Given the description of an element on the screen output the (x, y) to click on. 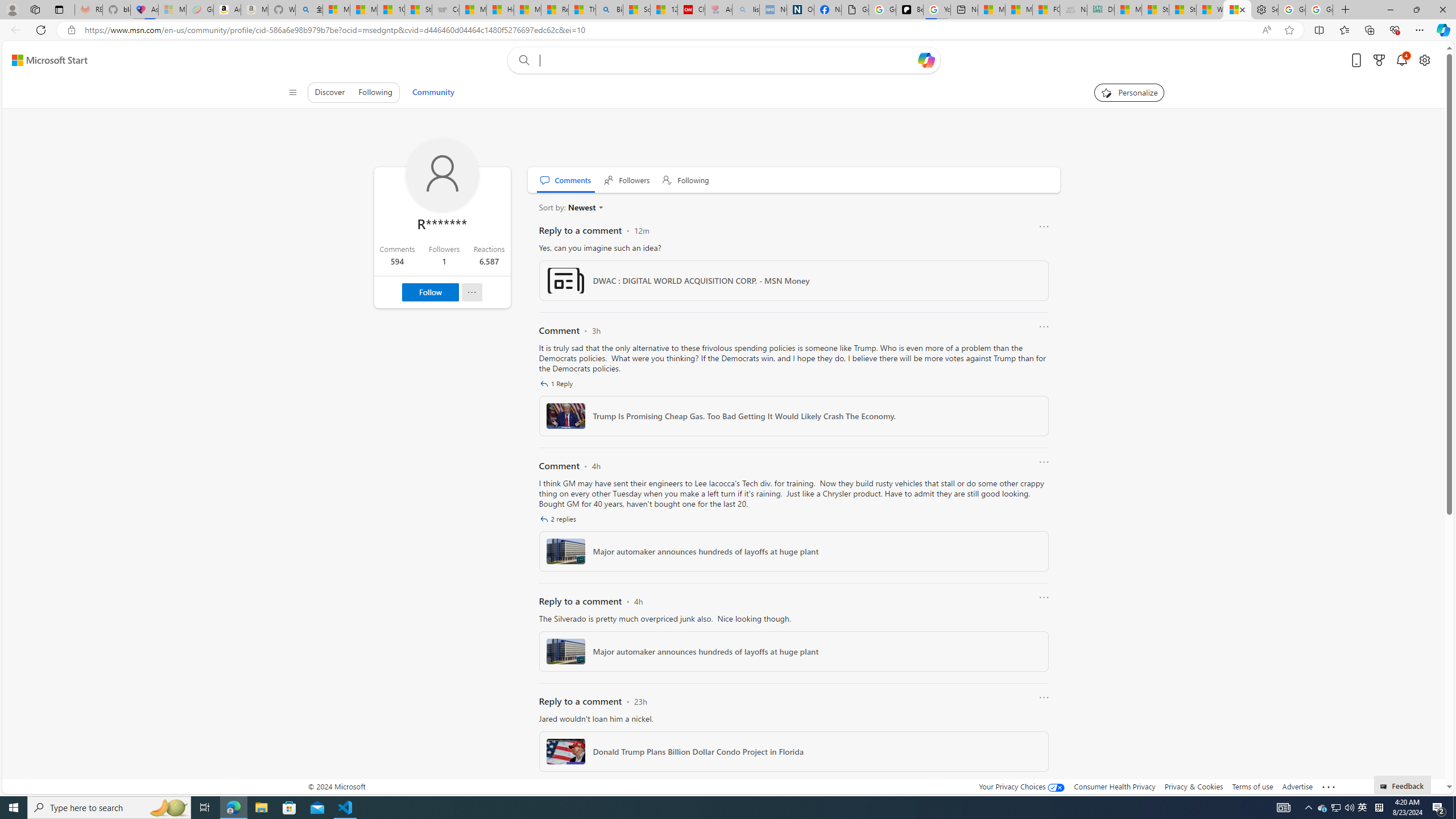
Class: oneFooter_seeMore-DS-EntryPoint1-1 (1328, 786)
 Followers (626, 179)
